Given the description of an element on the screen output the (x, y) to click on. 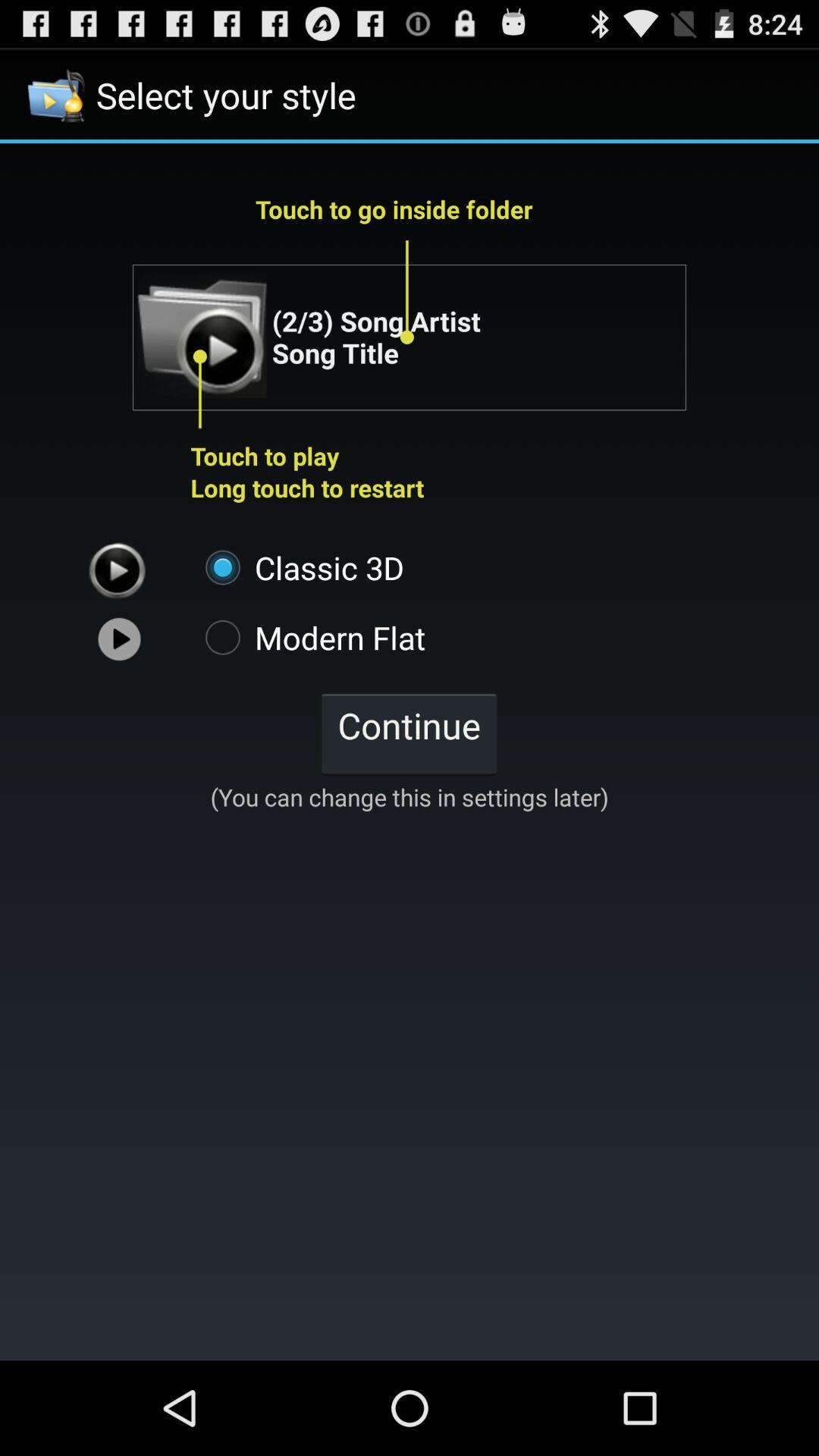
turn on the icon below modern flat radio button (408, 732)
